Given the description of an element on the screen output the (x, y) to click on. 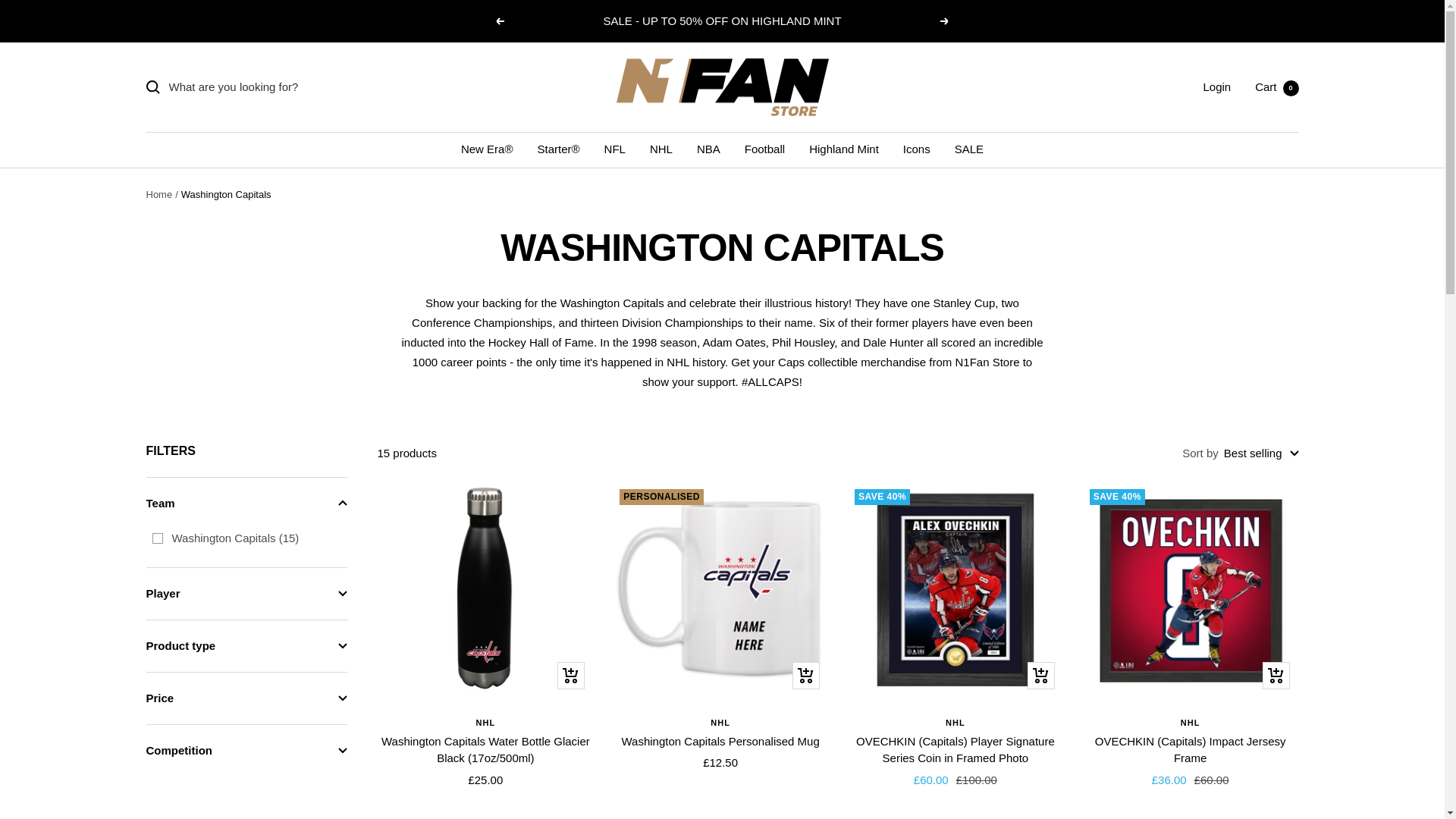
NHL (660, 148)
Price (245, 697)
Washington Capitals (1276, 86)
Previous (156, 538)
Icons (499, 21)
NFL (916, 148)
Competition (615, 148)
Login (245, 750)
Football (1216, 86)
NBA (764, 148)
Home (708, 148)
Player (158, 194)
SALE (245, 593)
N1Fan Store (969, 148)
